Given the description of an element on the screen output the (x, y) to click on. 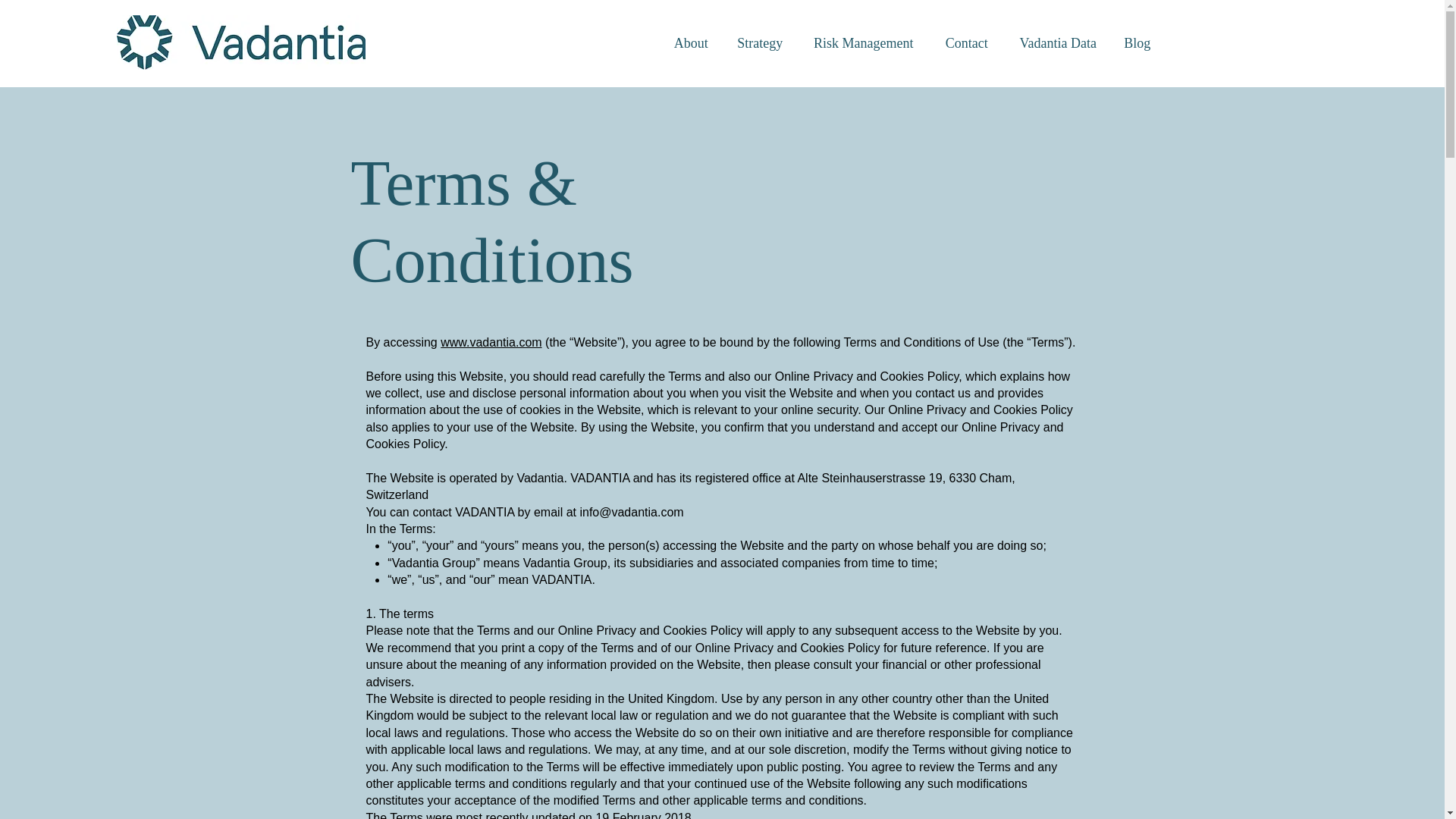
Vadantia Data (1058, 43)
Risk Management (863, 43)
Contact (967, 43)
About (690, 43)
Strategy (759, 43)
Blog (1136, 43)
www.vadantia.com (491, 341)
